Given the description of an element on the screen output the (x, y) to click on. 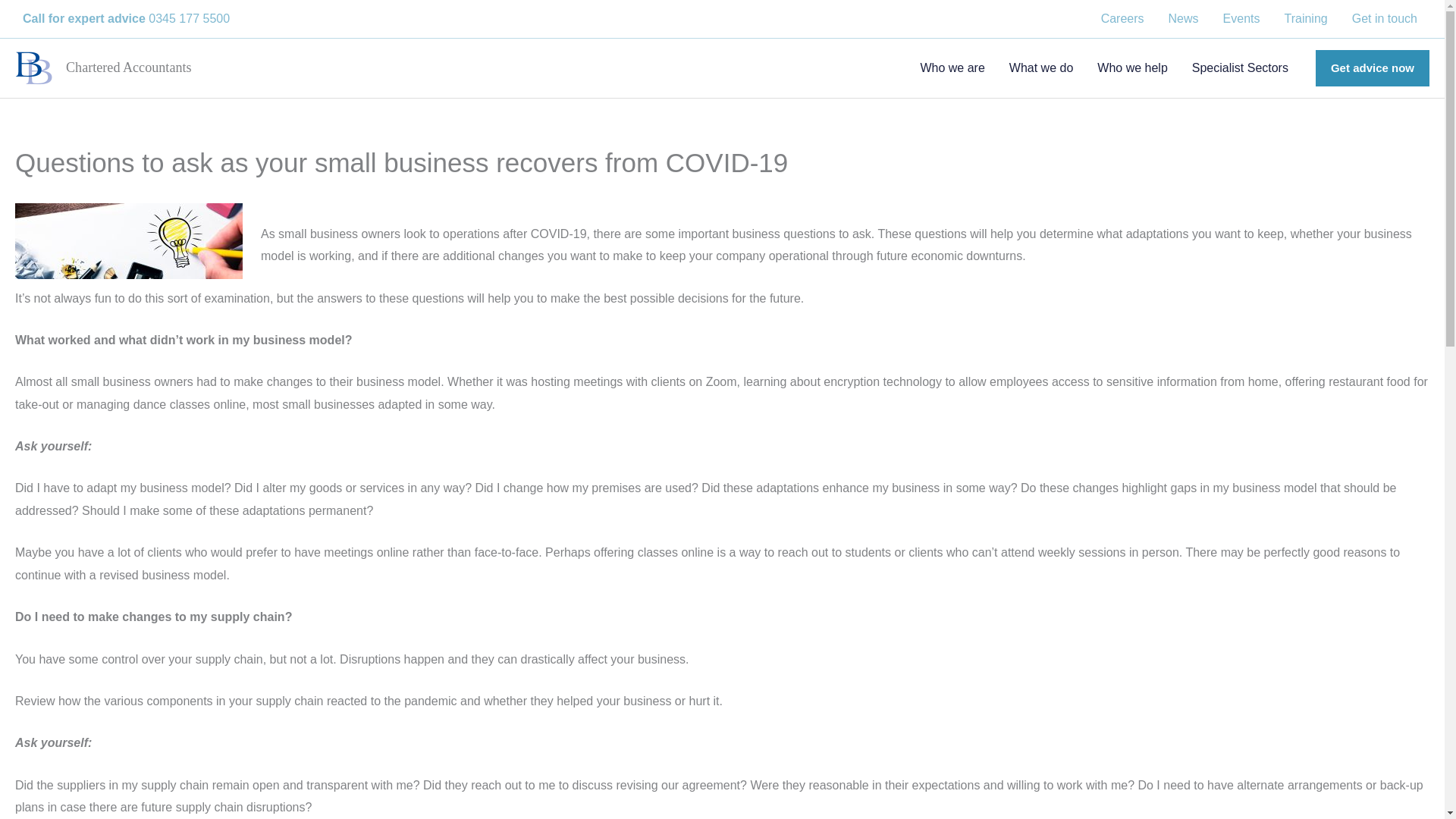
Training (1305, 18)
What we do (1040, 68)
Who we help (1131, 68)
Careers (1122, 18)
News (1183, 18)
Events (1241, 18)
Who we are (951, 68)
Get in touch (1384, 18)
Specialist Sectors (1239, 68)
Get advice now (1372, 67)
